Given the description of an element on the screen output the (x, y) to click on. 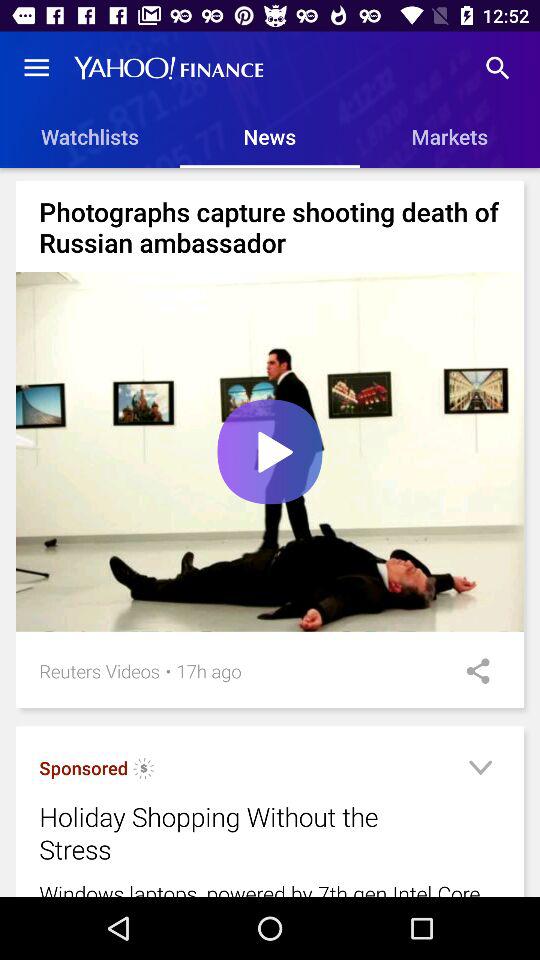
jump until the sponsored (83, 767)
